Given the description of an element on the screen output the (x, y) to click on. 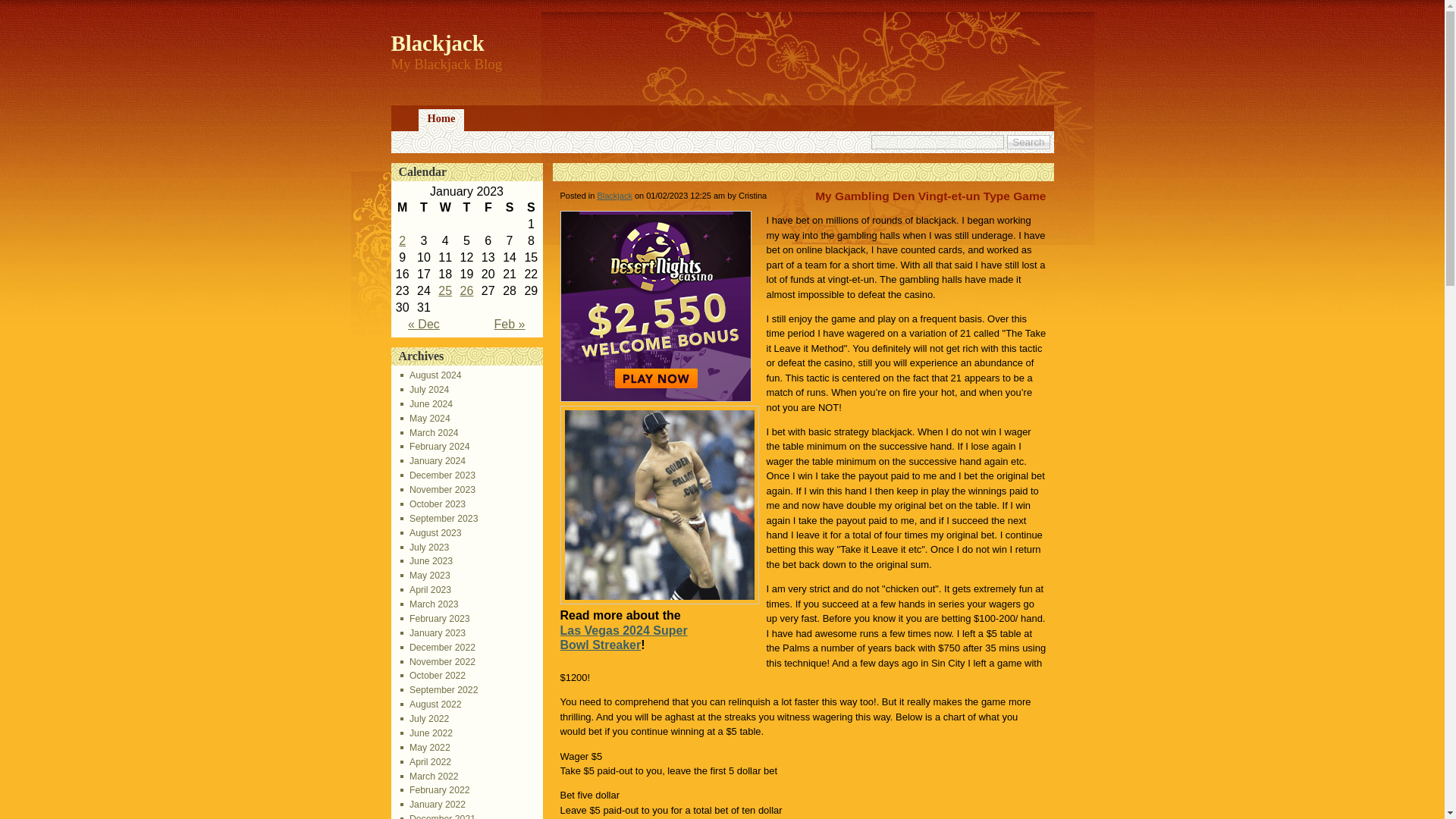
January 2022 (432, 804)
August 2023 (430, 532)
June 2024 (426, 403)
February 2023 (435, 618)
25 (444, 290)
November 2023 (438, 489)
April 2022 (425, 761)
July 2022 (424, 718)
December 2023 (438, 475)
